Given the description of an element on the screen output the (x, y) to click on. 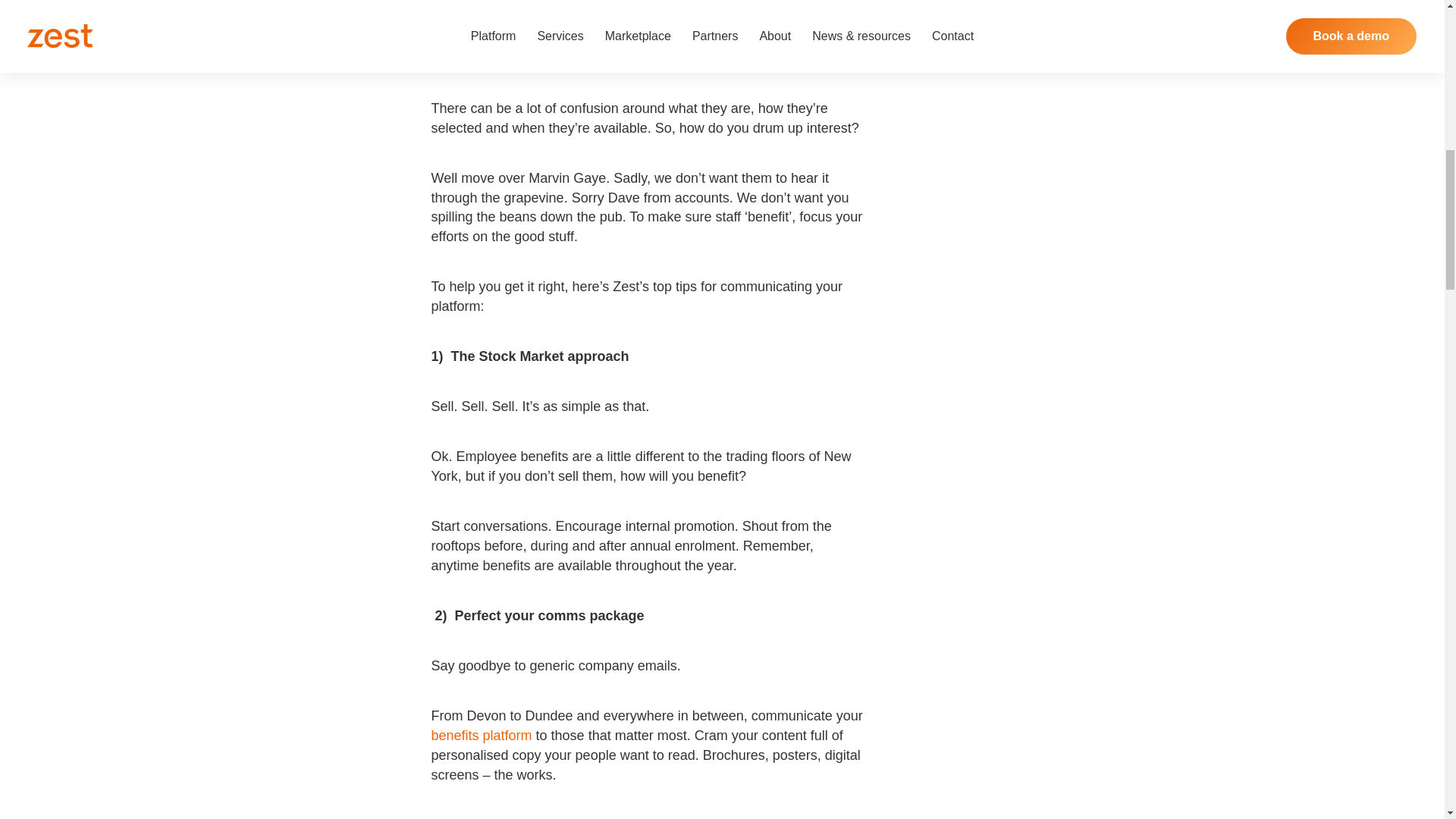
benefits platform (480, 735)
